Given the description of an element on the screen output the (x, y) to click on. 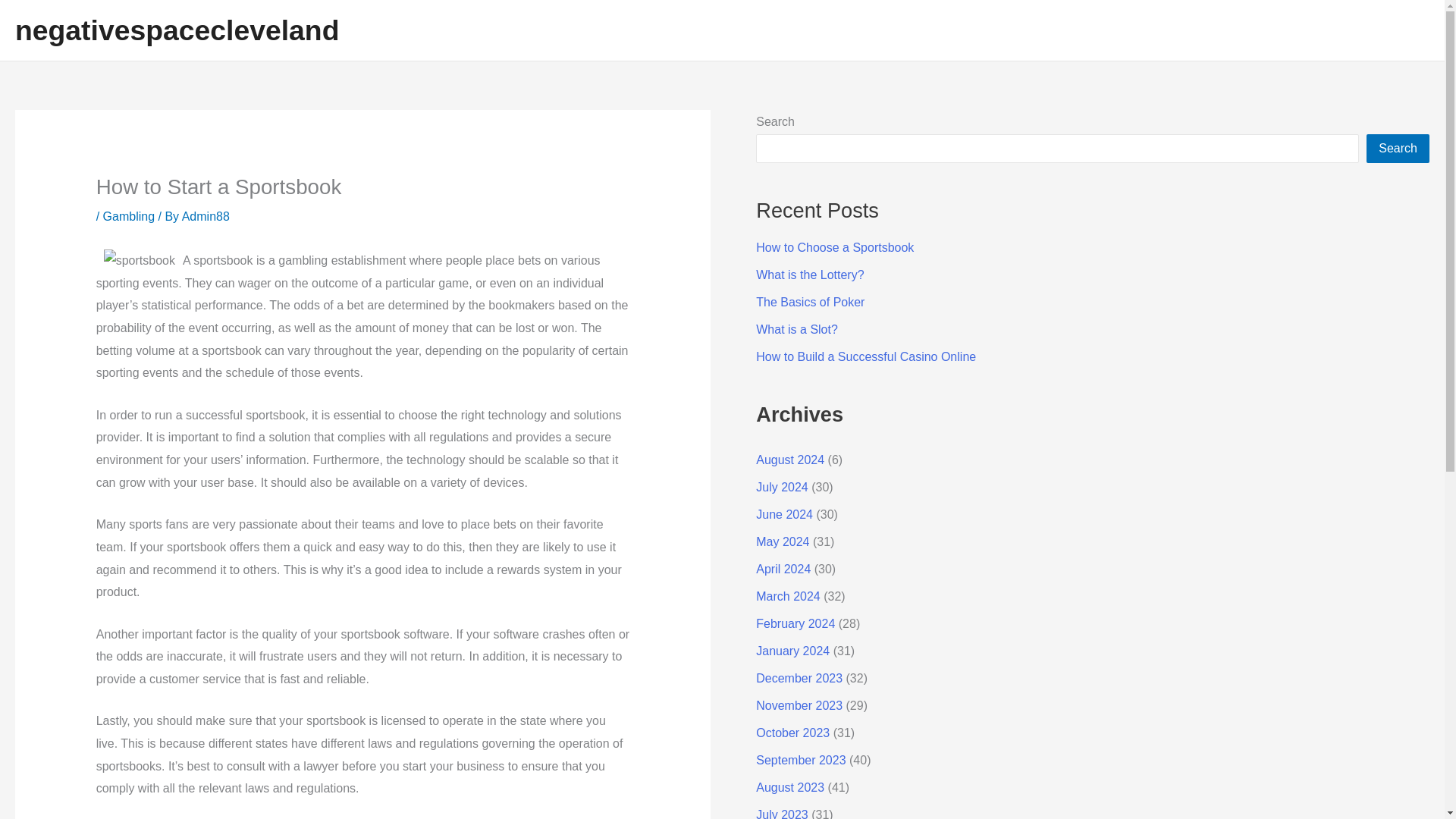
May 2024 (782, 541)
December 2023 (799, 677)
What is a Slot? (796, 328)
The Basics of Poker (809, 301)
April 2024 (782, 568)
November 2023 (799, 705)
October 2023 (792, 732)
negativespacecleveland (176, 29)
January 2024 (792, 650)
View all posts by Admin88 (206, 215)
